Given the description of an element on the screen output the (x, y) to click on. 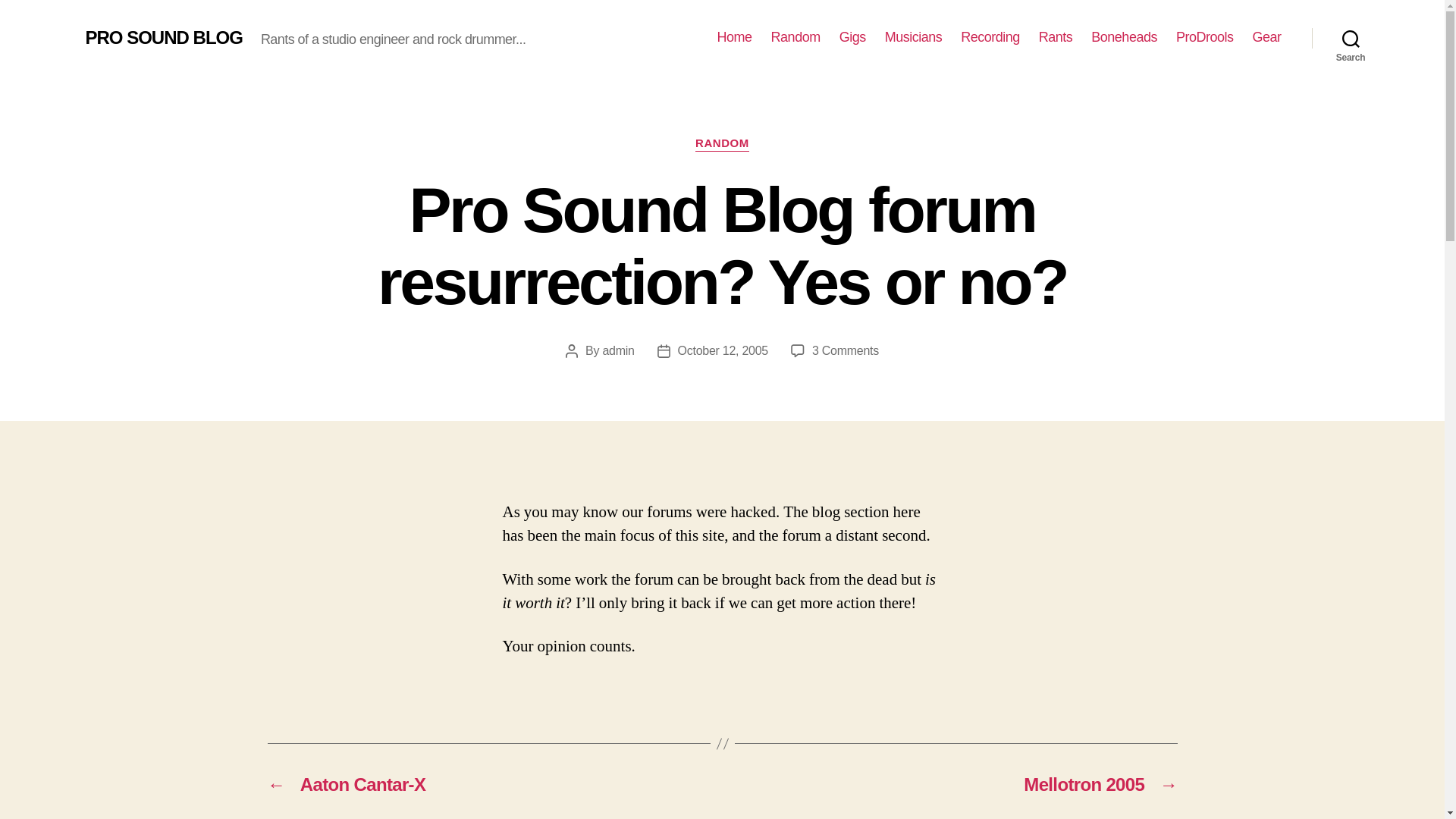
Recording (990, 37)
RANDOM (845, 350)
Musicians (722, 143)
PRO SOUND BLOG (913, 37)
October 12, 2005 (162, 37)
admin (723, 350)
Rants (617, 350)
Gear (1056, 37)
Search (1266, 37)
ProDrools (1350, 37)
Random (1204, 37)
Home (796, 37)
Boneheads (734, 37)
Gigs (1123, 37)
